Given the description of an element on the screen output the (x, y) to click on. 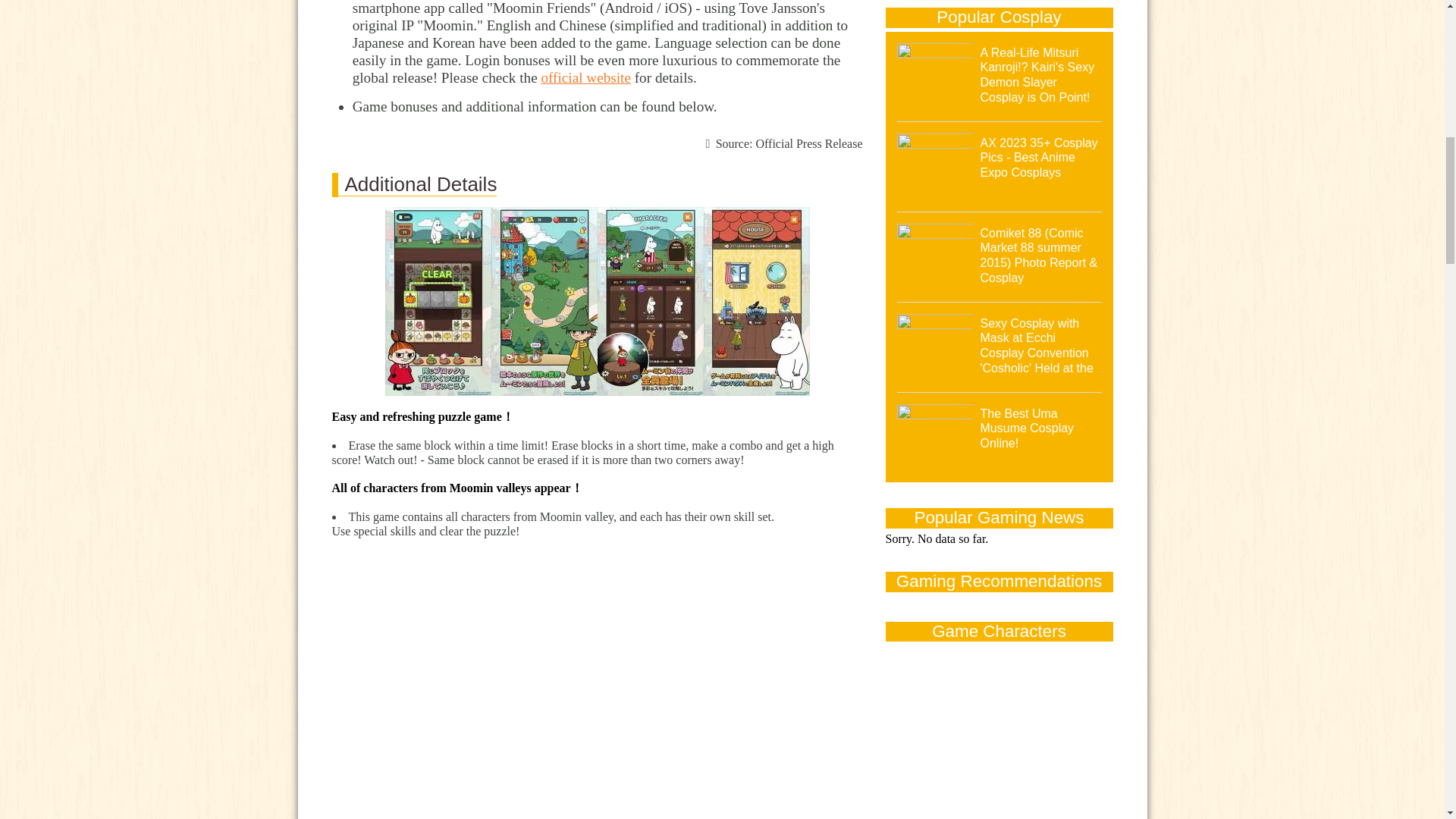
official website (585, 77)
